Given the description of an element on the screen output the (x, y) to click on. 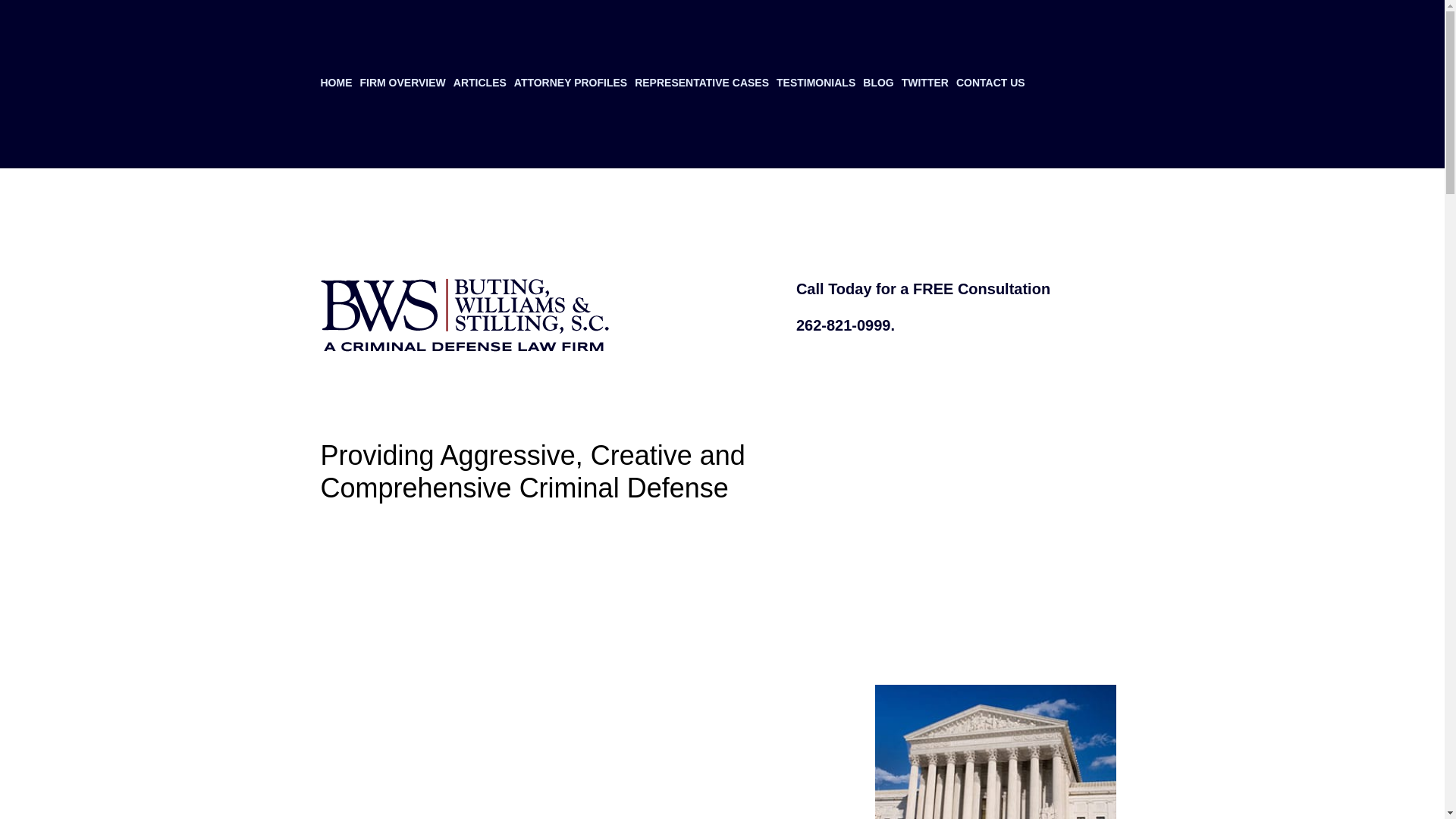
TWITTER (925, 84)
ARTICLES (479, 84)
FIRM OVERVIEW (402, 84)
TESTIMONIALS (816, 84)
REPRESENTATIVE CASES (701, 84)
ATTORNEY PROFILES (570, 84)
i-default (995, 751)
CONTACT US (990, 84)
